Given the description of an element on the screen output the (x, y) to click on. 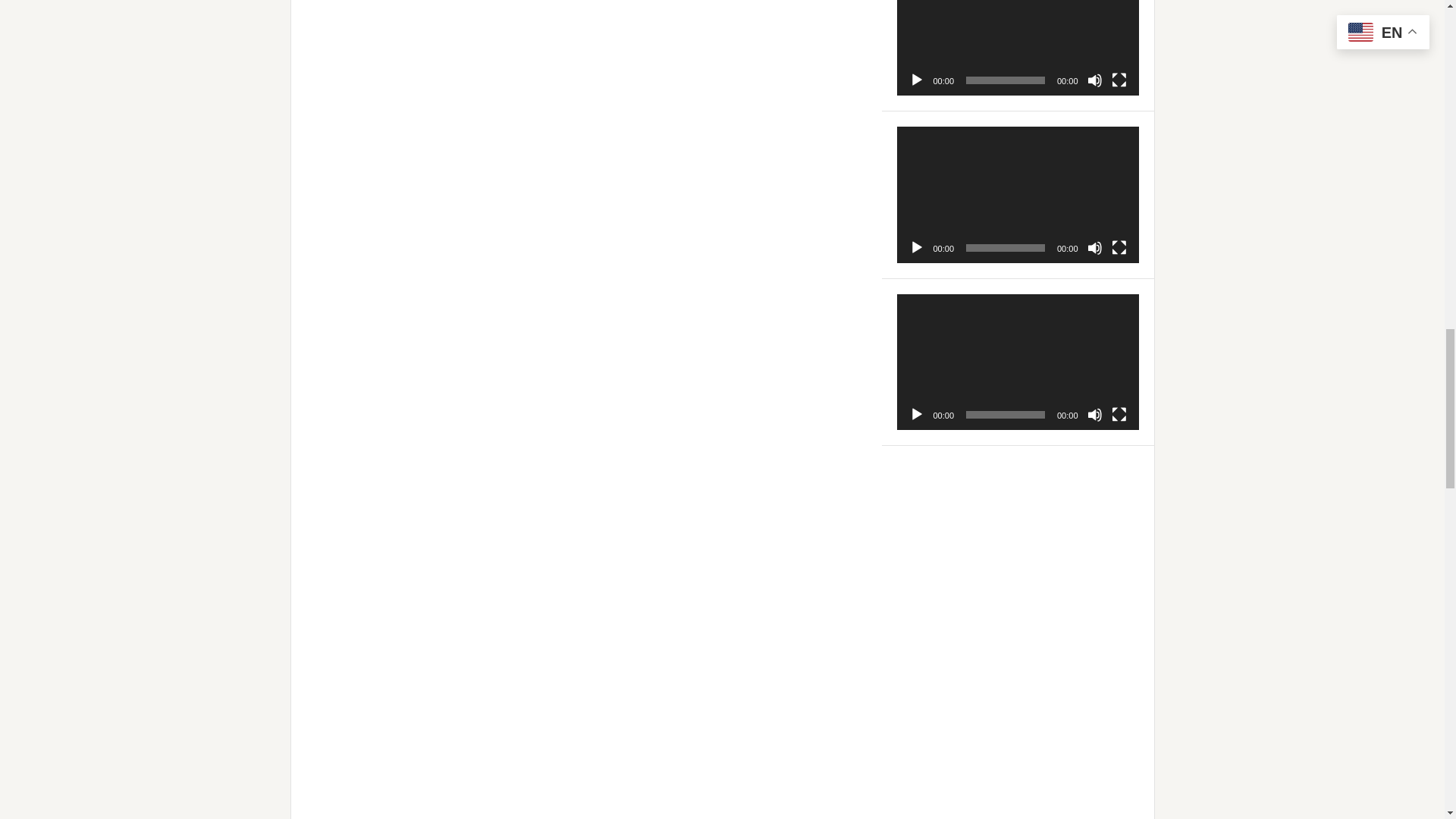
Fullscreen (1119, 79)
Mute (1094, 79)
Mute (1094, 247)
Play (915, 247)
Play (915, 79)
Fullscreen (1119, 247)
